Given the description of an element on the screen output the (x, y) to click on. 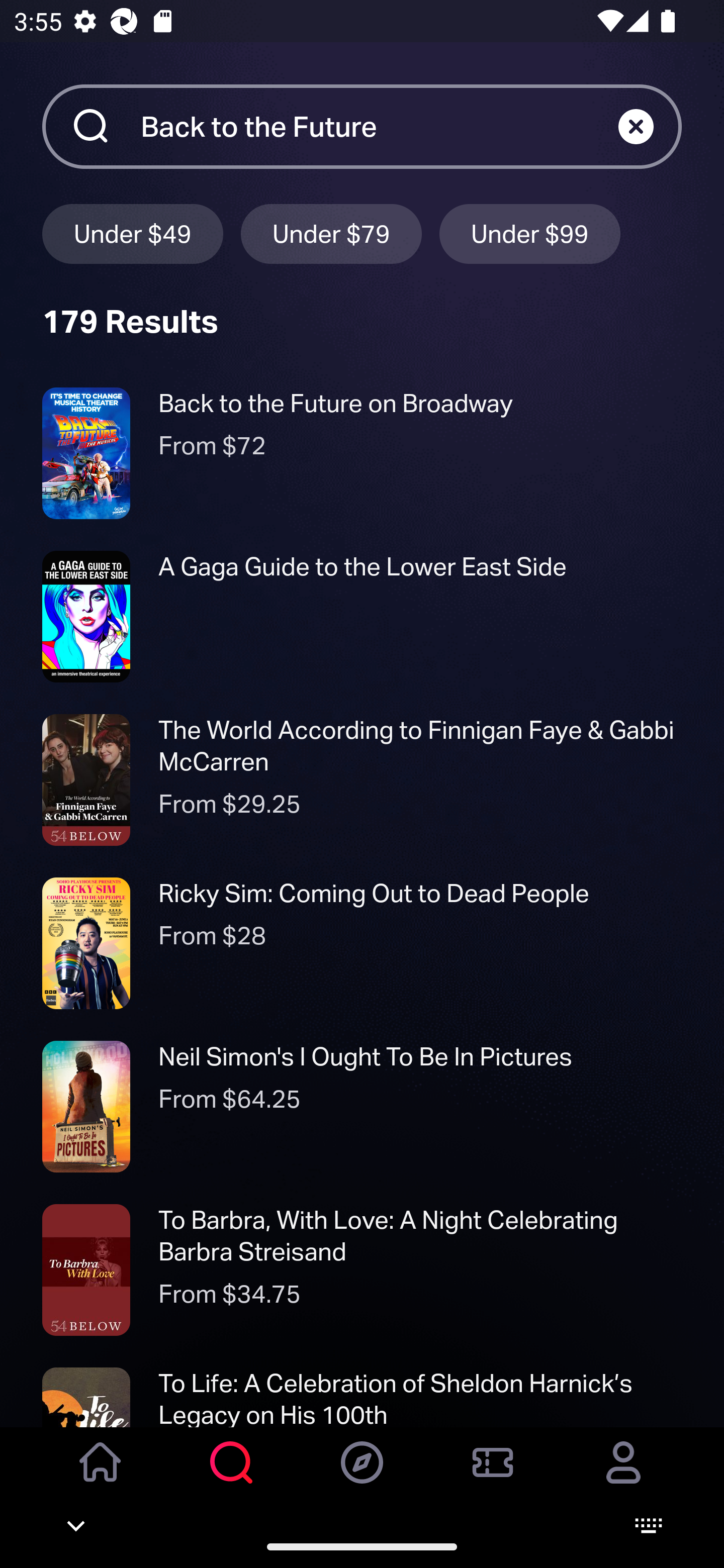
Back to the Future (379, 126)
Under $49 (131, 233)
Under $79 (331, 233)
Under $99 (529, 233)
Home (100, 1475)
Discover (361, 1475)
Orders (492, 1475)
Account (623, 1475)
